Given the description of an element on the screen output the (x, y) to click on. 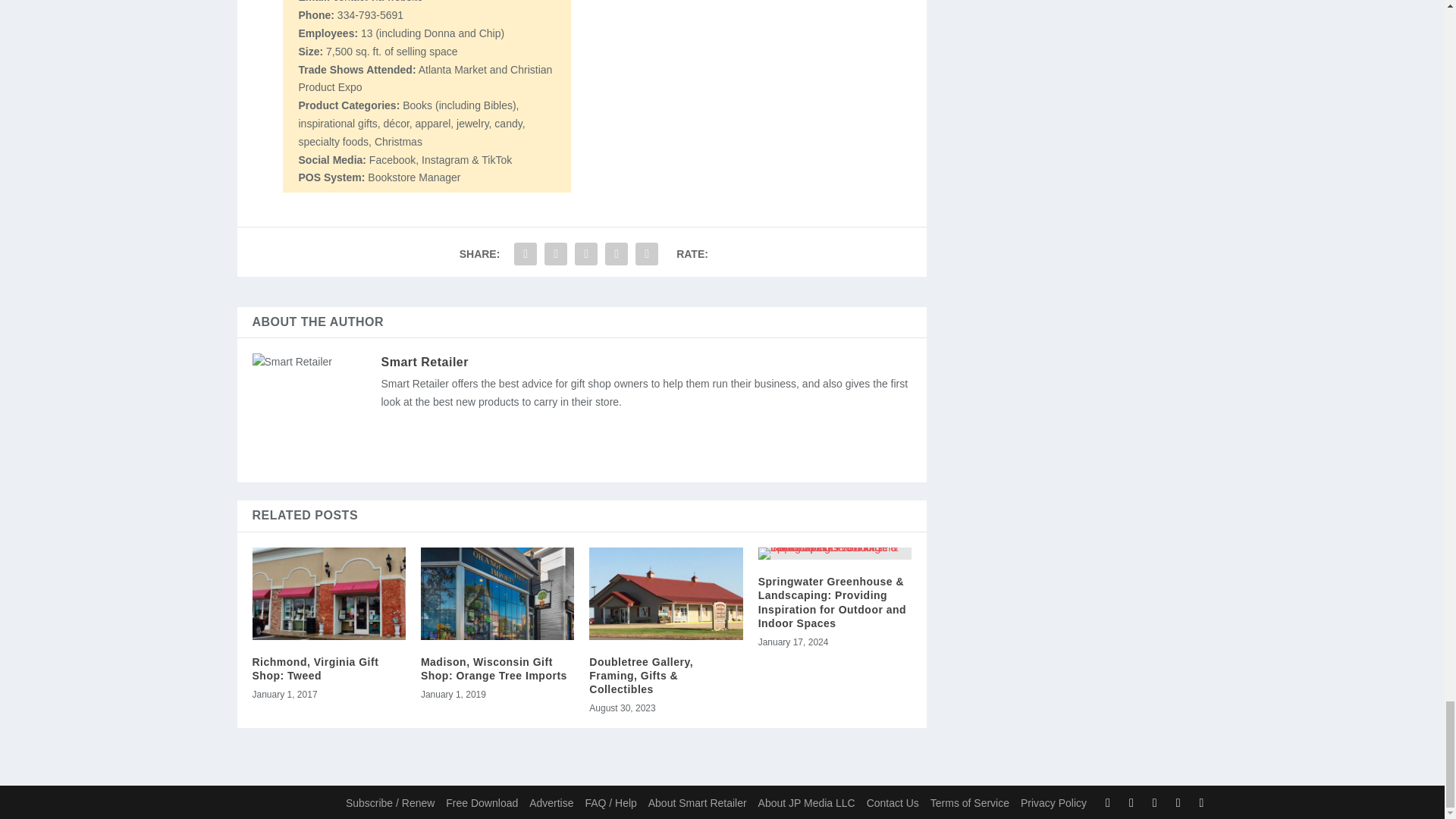
Madison, Wisconsin Gift Shop: Orange Tree Imports (493, 668)
Richmond, Virginia Gift Shop: Tweed (314, 668)
Share "Dove Christian Supply" via Pinterest (585, 254)
View all posts by Smart Retailer (424, 361)
Madison, Wisconsin Gift Shop: Orange Tree Imports (496, 593)
Share "Dove Christian Supply" via Email (616, 254)
Share "Dove Christian Supply" via Twitter (555, 254)
Share "Dove Christian Supply" via Print (646, 254)
Richmond, Virginia Gift Shop: Tweed (327, 593)
Smart Retailer (424, 361)
Share "Dove Christian Supply" via Facebook (525, 254)
